Given the description of an element on the screen output the (x, y) to click on. 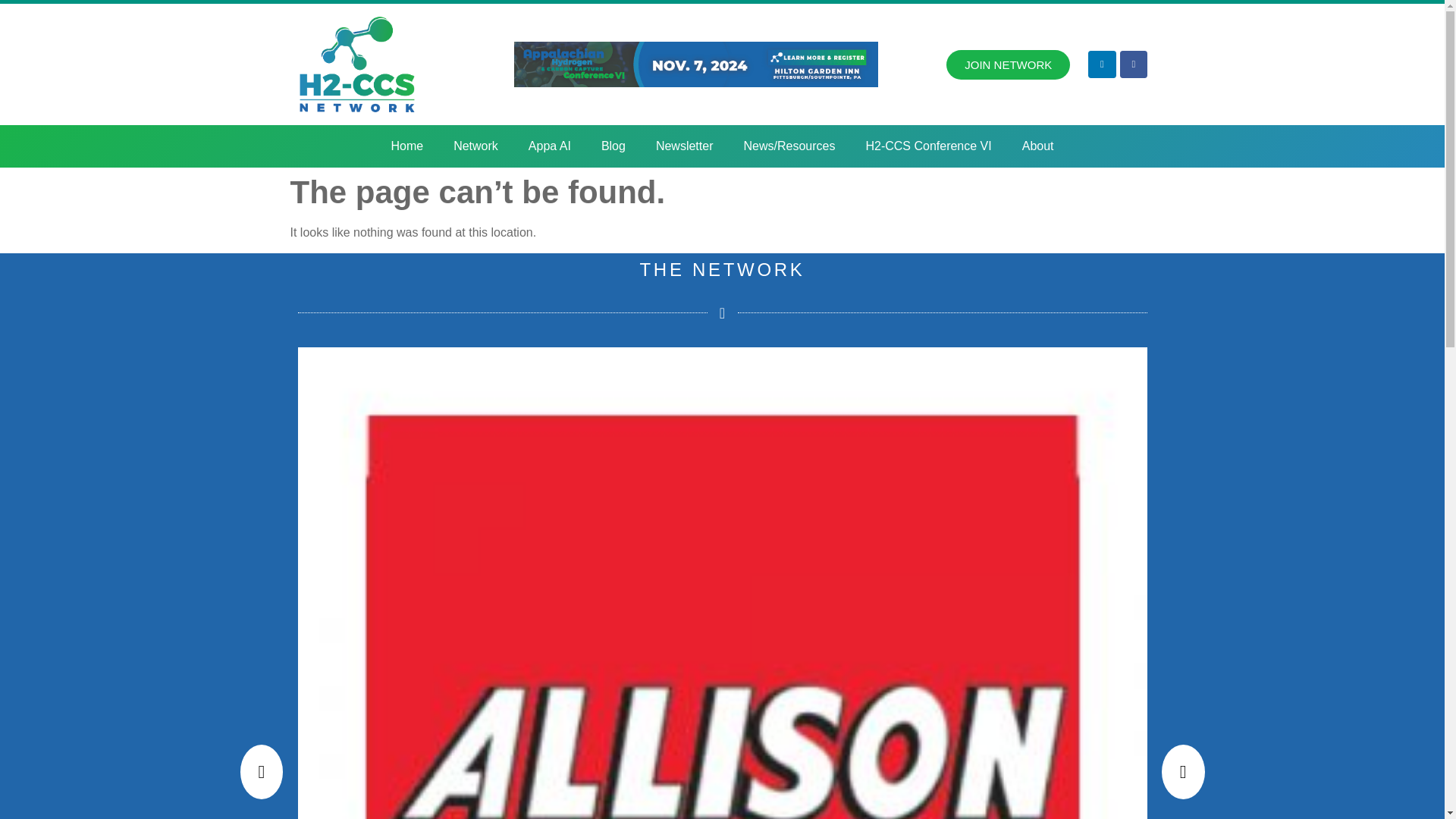
Blog (613, 146)
Home (406, 146)
JOIN NETWORK (1008, 64)
Newsletter (684, 146)
About (1037, 146)
Appa AI (549, 146)
Network (475, 146)
H2-CCS Conference VI (928, 146)
